Given the description of an element on the screen output the (x, y) to click on. 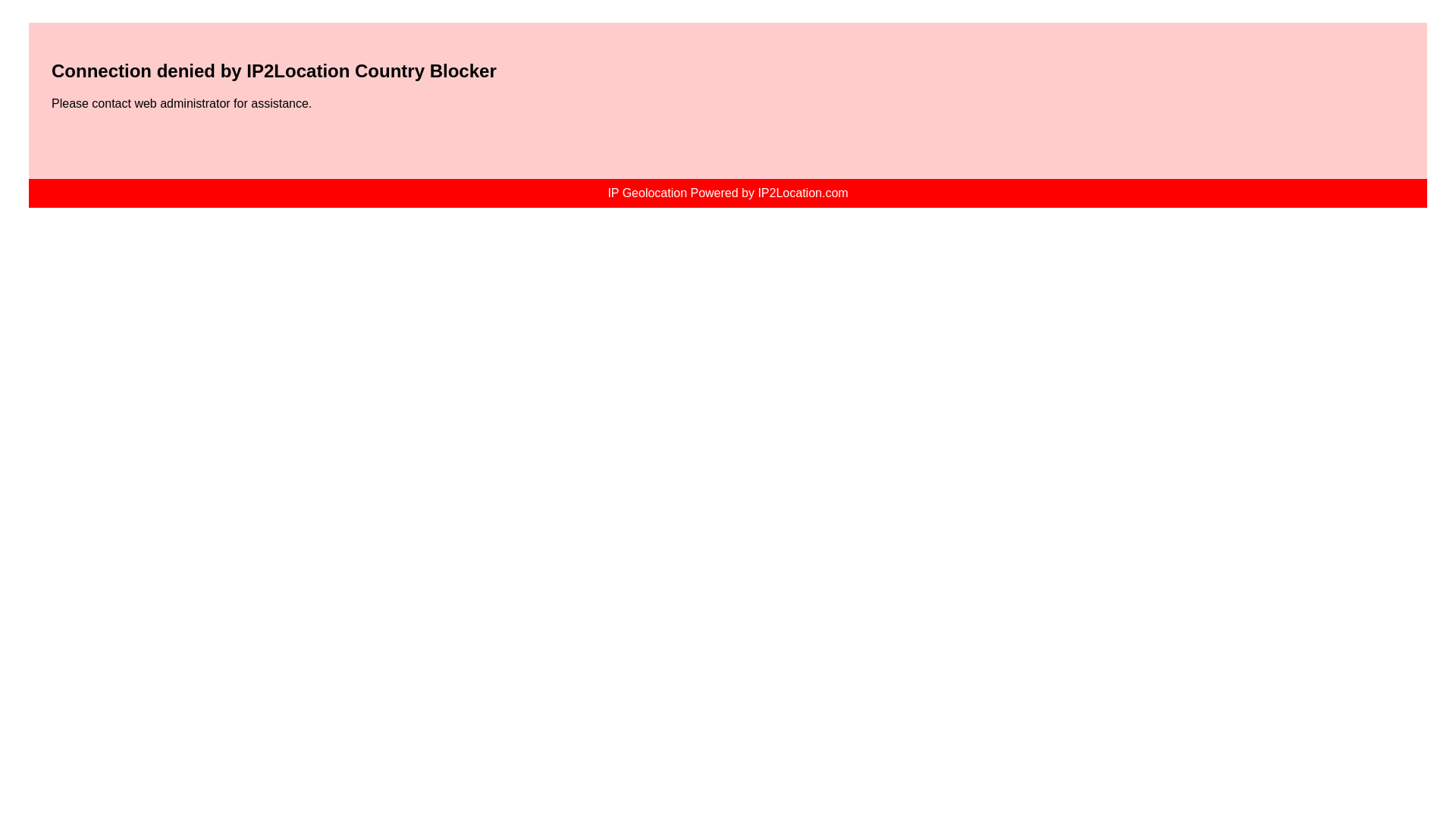
IP Geolocation Powered by IP2Location.com Element type: text (727, 192)
